Given the description of an element on the screen output the (x, y) to click on. 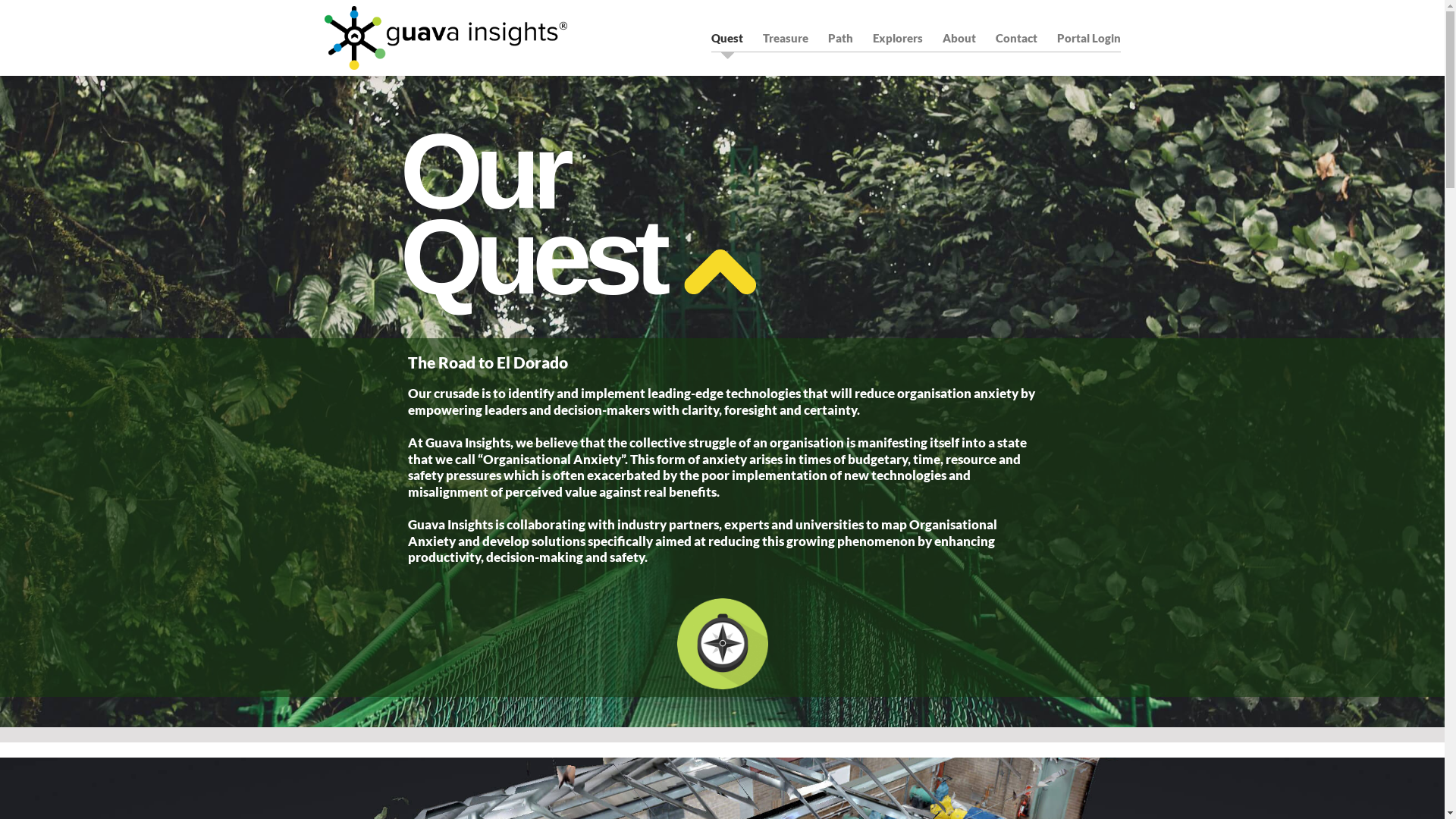
Contact Element type: text (1015, 37)
Treasure Element type: text (785, 37)
Path Element type: text (840, 37)
About Element type: text (958, 37)
Portal Login Element type: text (1088, 37)
Explorers Element type: text (897, 37)
Quest Element type: text (727, 37)
